Given the description of an element on the screen output the (x, y) to click on. 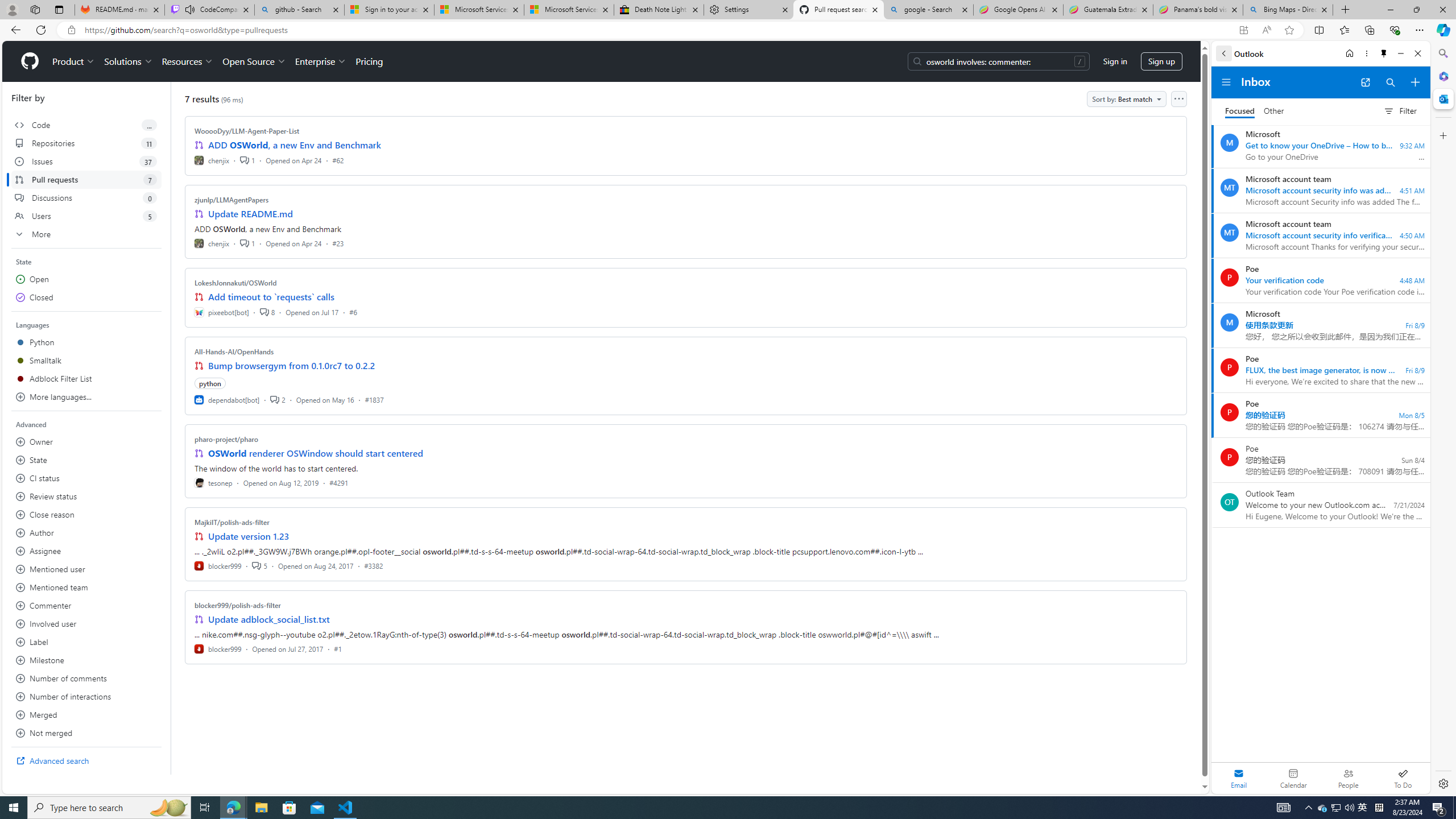
More (86, 234)
Pricing (368, 60)
Other (1273, 110)
Mute tab (189, 8)
google - Search (928, 9)
People (1347, 777)
#6 (352, 311)
